Given the description of an element on the screen output the (x, y) to click on. 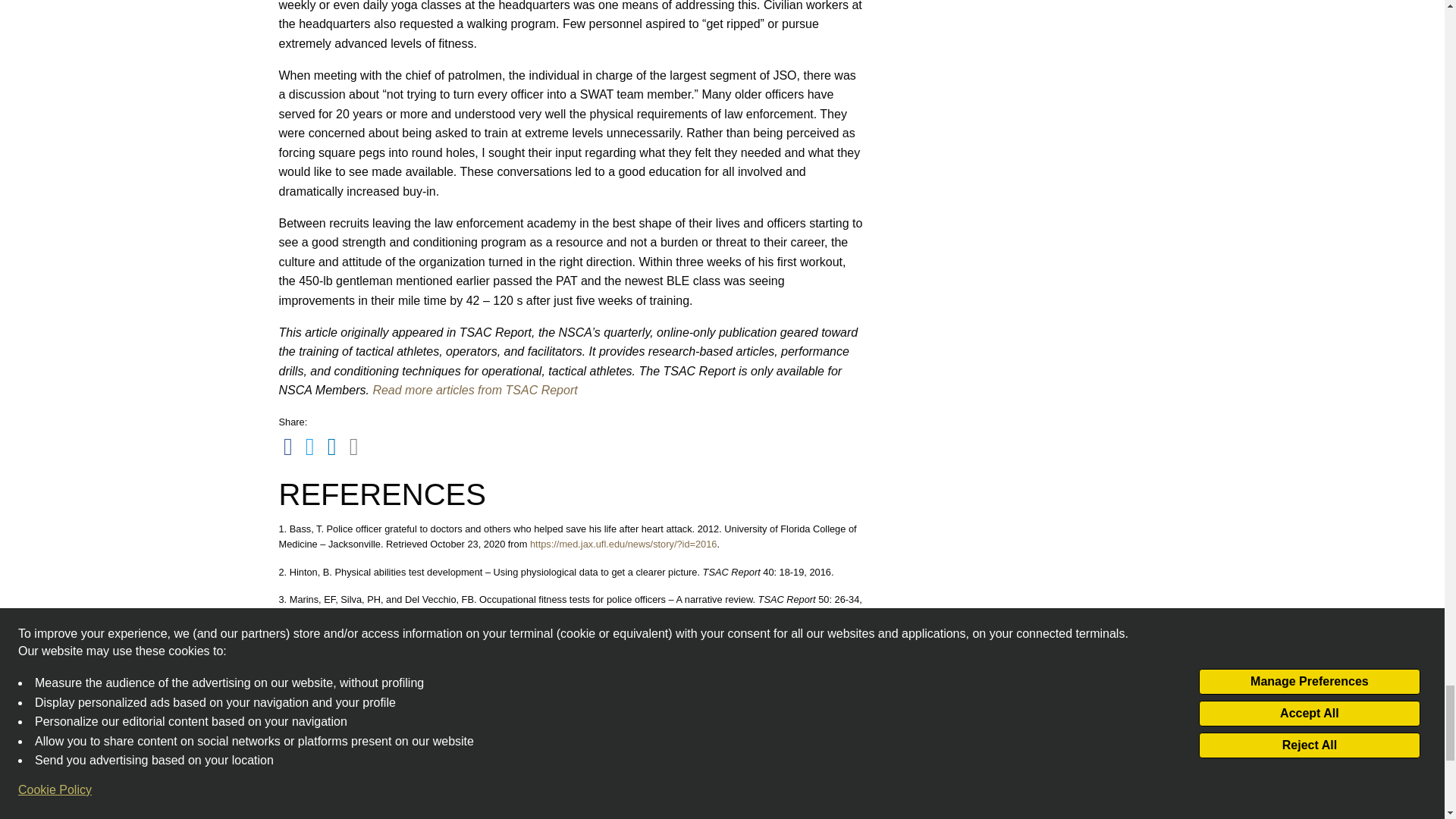
TSAC Report  (476, 390)
